Given the description of an element on the screen output the (x, y) to click on. 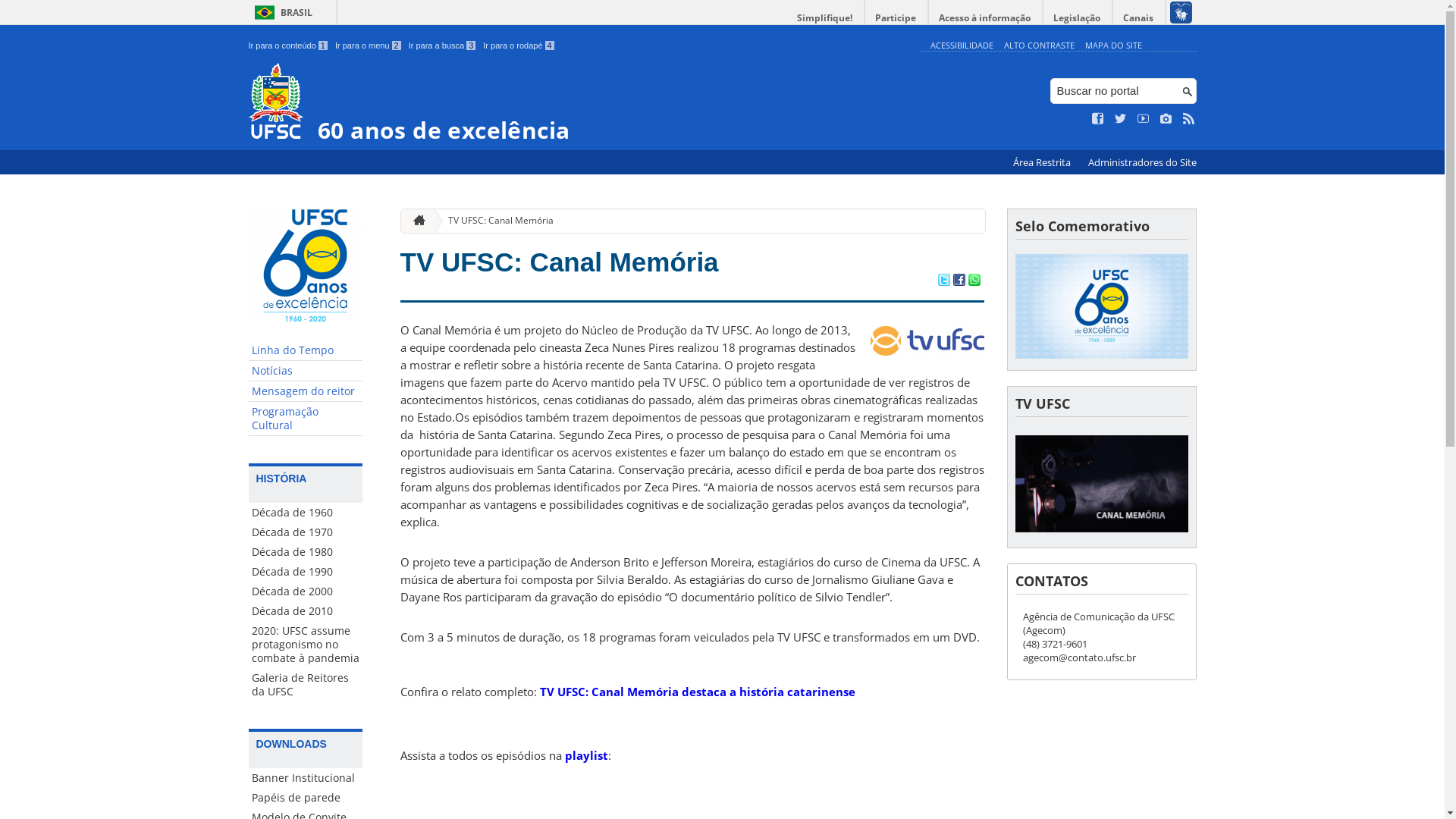
Banner Institucional Element type: text (305, 777)
Galeria de Reitores da UFSC Element type: text (305, 684)
Veja no Instagram Element type: hover (1166, 118)
ACESSIBILIDADE Element type: text (960, 44)
MAPA DO SITE Element type: text (1112, 44)
playlist Element type: text (585, 754)
Curta no Facebook Element type: hover (1098, 118)
Compartilhar no WhatsApp Element type: hover (973, 280)
ALTO CONTRASTE Element type: text (1039, 44)
Participe Element type: text (895, 18)
BRASIL Element type: text (280, 12)
Mensagem do reitor Element type: text (305, 391)
Simplifique! Element type: text (825, 18)
Siga no Twitter Element type: hover (1120, 118)
Canais Element type: text (1138, 18)
Ir para a busca 3 Element type: text (442, 45)
Compartilhar no Facebook Element type: hover (958, 280)
Administradores do Site Element type: text (1141, 162)
Ir para o menu 2 Element type: text (368, 45)
Linha do Tempo Element type: text (305, 350)
Compartilhar no Twitter Element type: hover (943, 280)
